Given the description of an element on the screen output the (x, y) to click on. 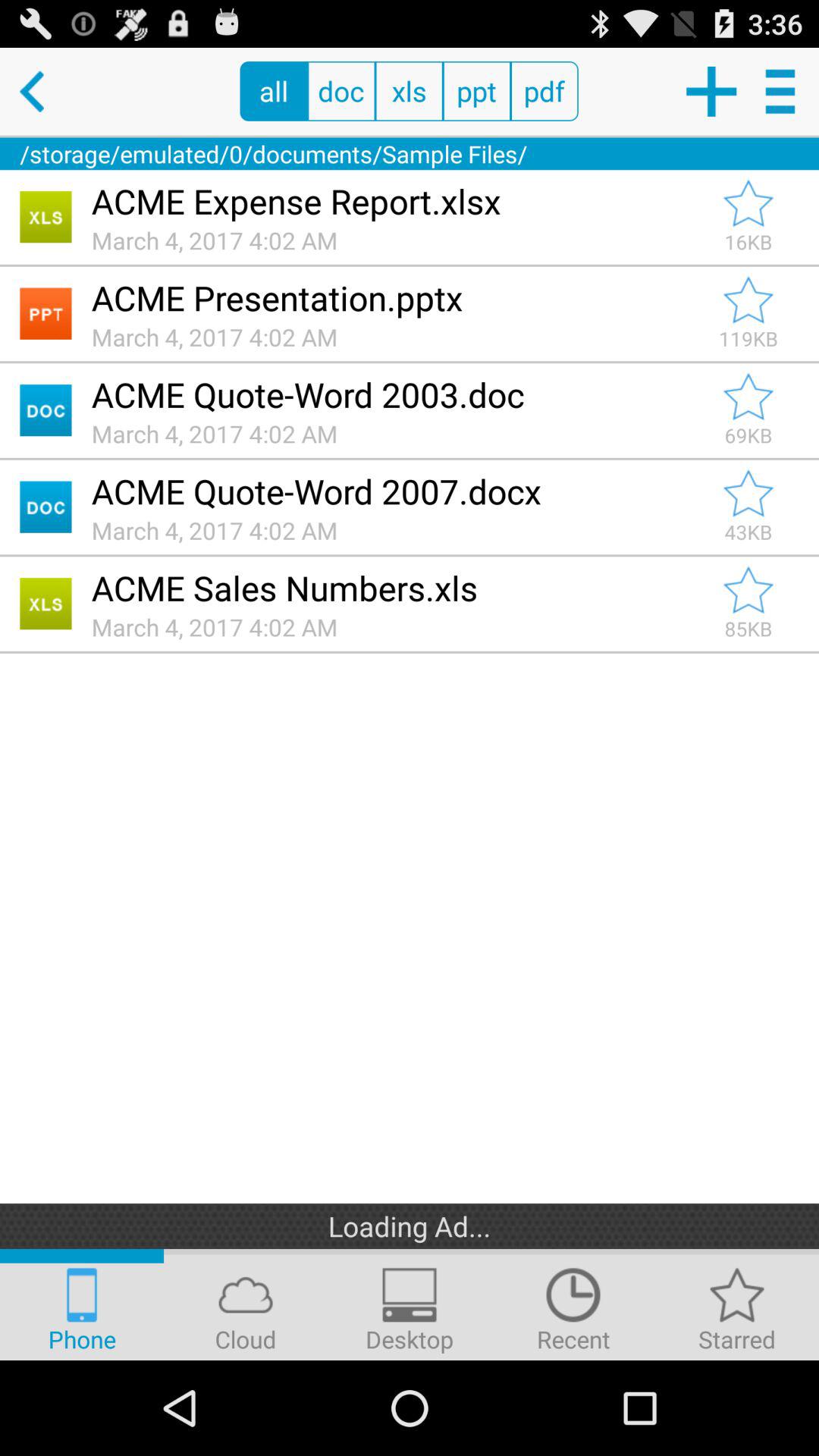
open pdf radio button (544, 91)
